Given the description of an element on the screen output the (x, y) to click on. 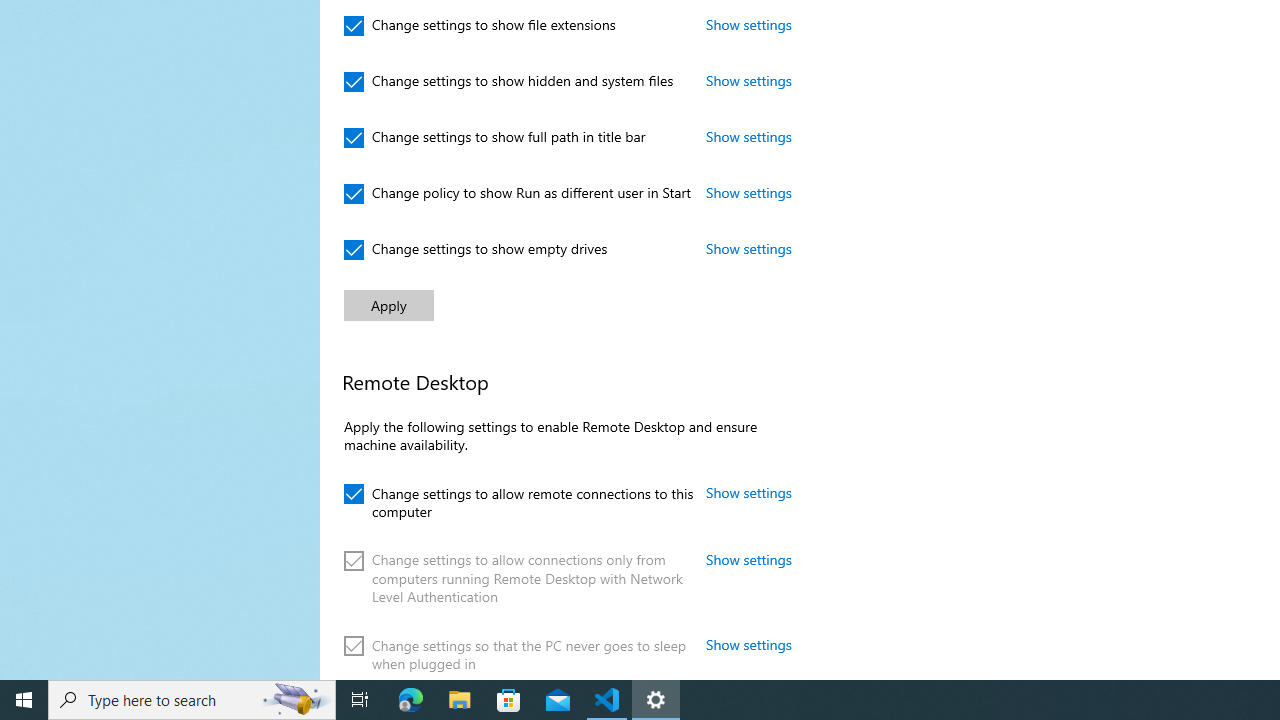
Change settings to show file extensions (479, 25)
Show settings: Change settings to show file extensions (749, 24)
Change settings to show hidden and system files (509, 81)
Change policy to show Run as different user in Start (517, 193)
